Given the description of an element on the screen output the (x, y) to click on. 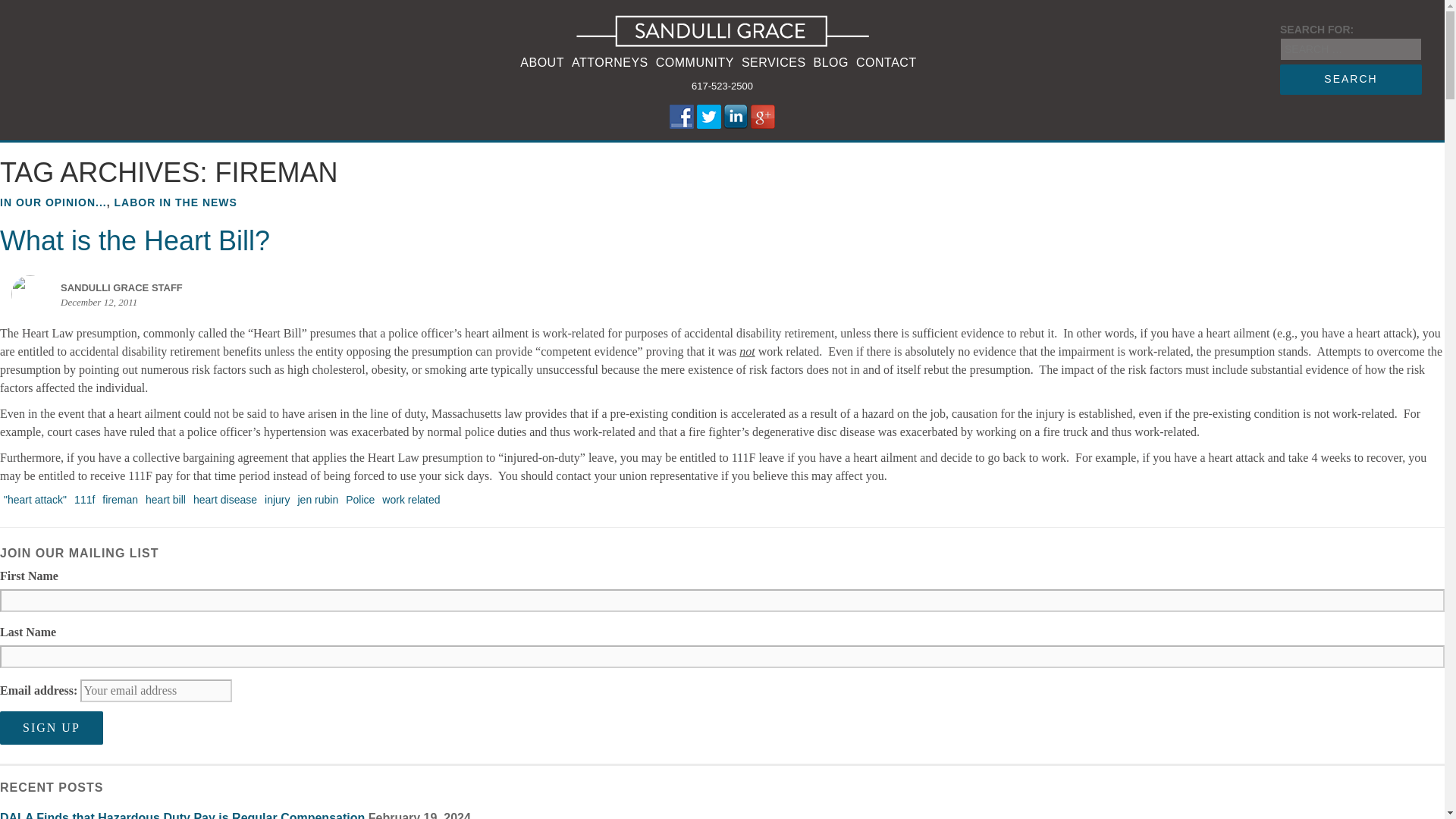
injury (277, 499)
SERVICES (773, 63)
Search (1350, 79)
Sign up (51, 727)
IN OUR OPINION... (53, 202)
heart bill (165, 499)
617-523-2500 (721, 86)
ABOUT (541, 63)
"heart attack" (34, 499)
DALA Finds that Hazardous Duty Pay is Regular Compensation (182, 815)
COMMUNITY (694, 63)
heart disease (224, 499)
work related (411, 499)
What is the Heart Bill? (134, 240)
LABOR IN THE NEWS (174, 202)
